Given the description of an element on the screen output the (x, y) to click on. 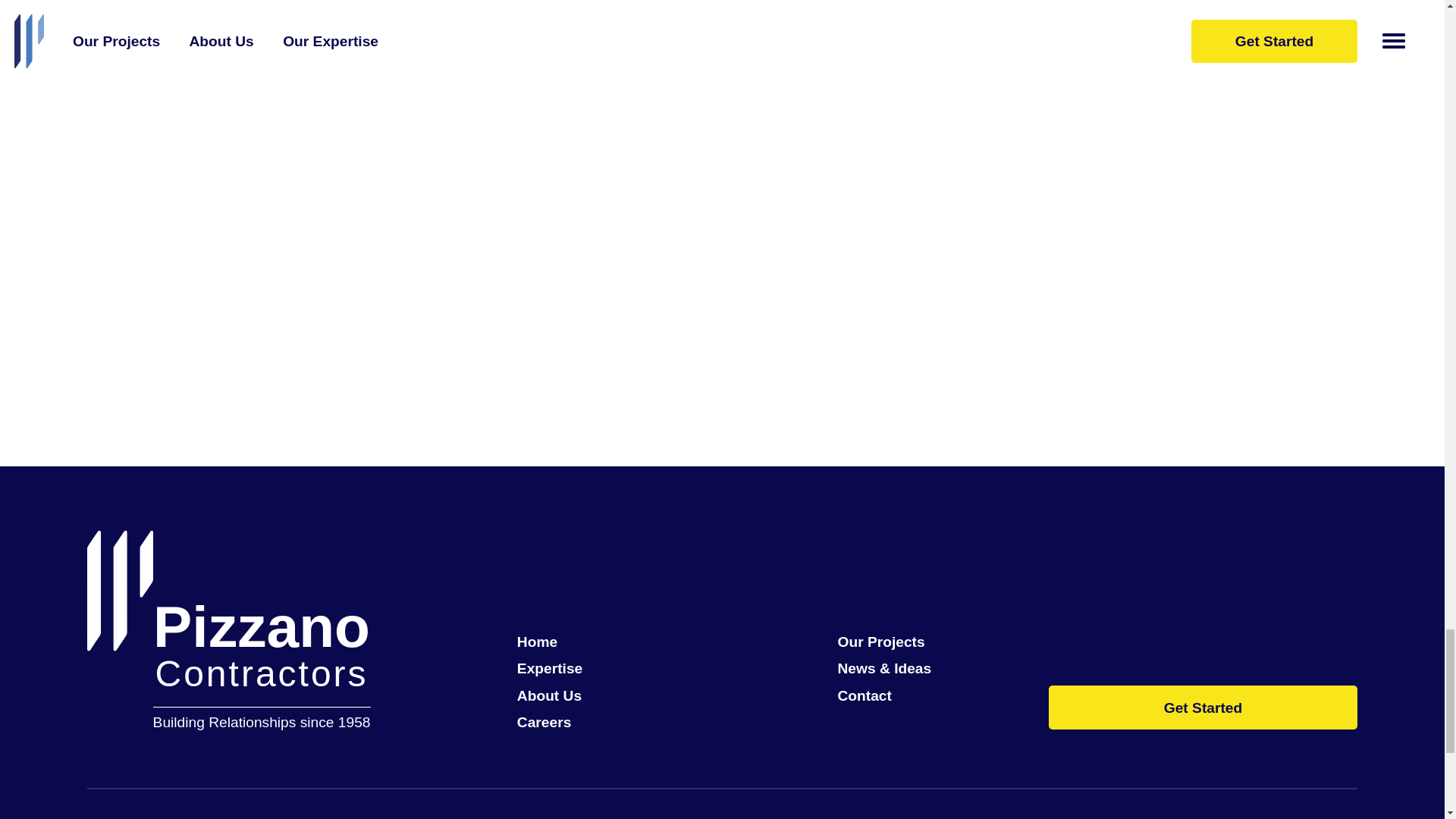
Expertise (561, 667)
Careers (561, 721)
Our Projects (882, 641)
Contact (882, 695)
About Us (561, 695)
Home (561, 641)
